Given the description of an element on the screen output the (x, y) to click on. 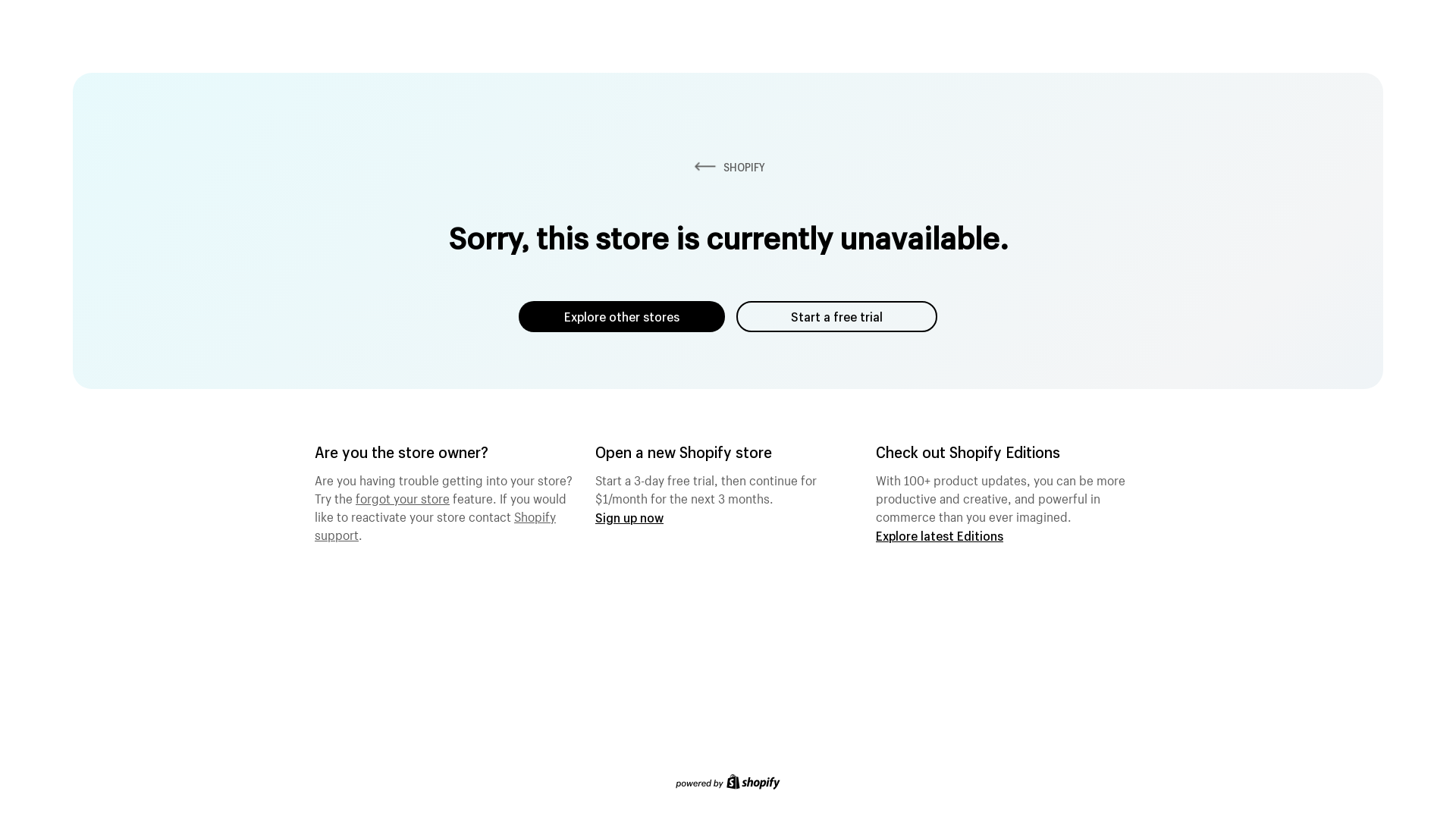
Explore other stores Element type: text (621, 316)
SHOPIFY Element type: text (727, 167)
Sign up now Element type: text (629, 517)
Explore latest Editions Element type: text (939, 535)
Shopify support Element type: text (434, 523)
Start a free trial Element type: text (836, 316)
forgot your store Element type: text (402, 496)
